Given the description of an element on the screen output the (x, y) to click on. 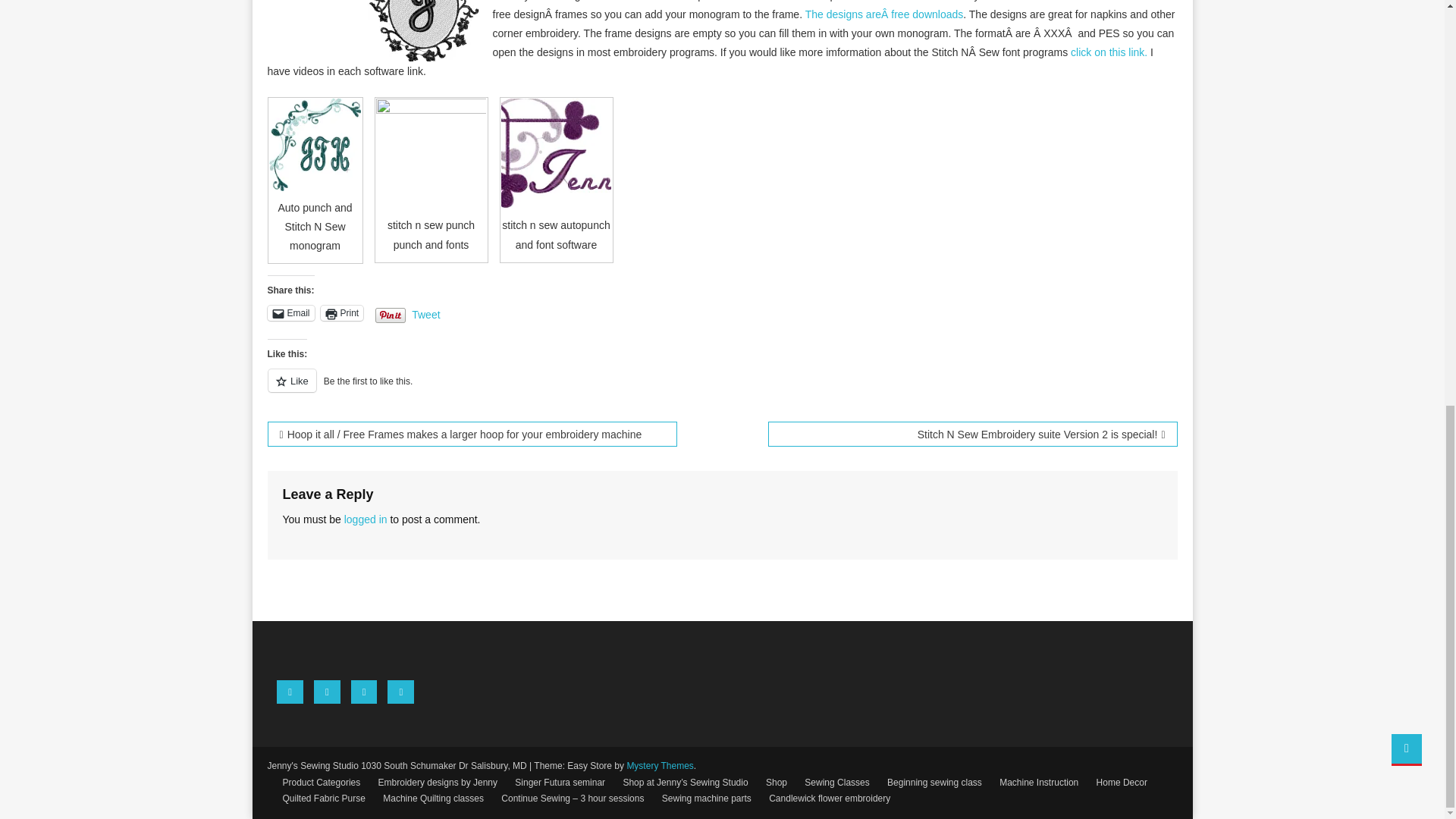
free lettering frame embroidery (884, 14)
embroidery software from Stitch N sew (1108, 51)
frameb (315, 144)
Click to email a link to a friend (290, 313)
framed (430, 153)
Like or Reblog (721, 389)
Click to print (342, 313)
framea (423, 30)
framec (555, 153)
